Given the description of an element on the screen output the (x, y) to click on. 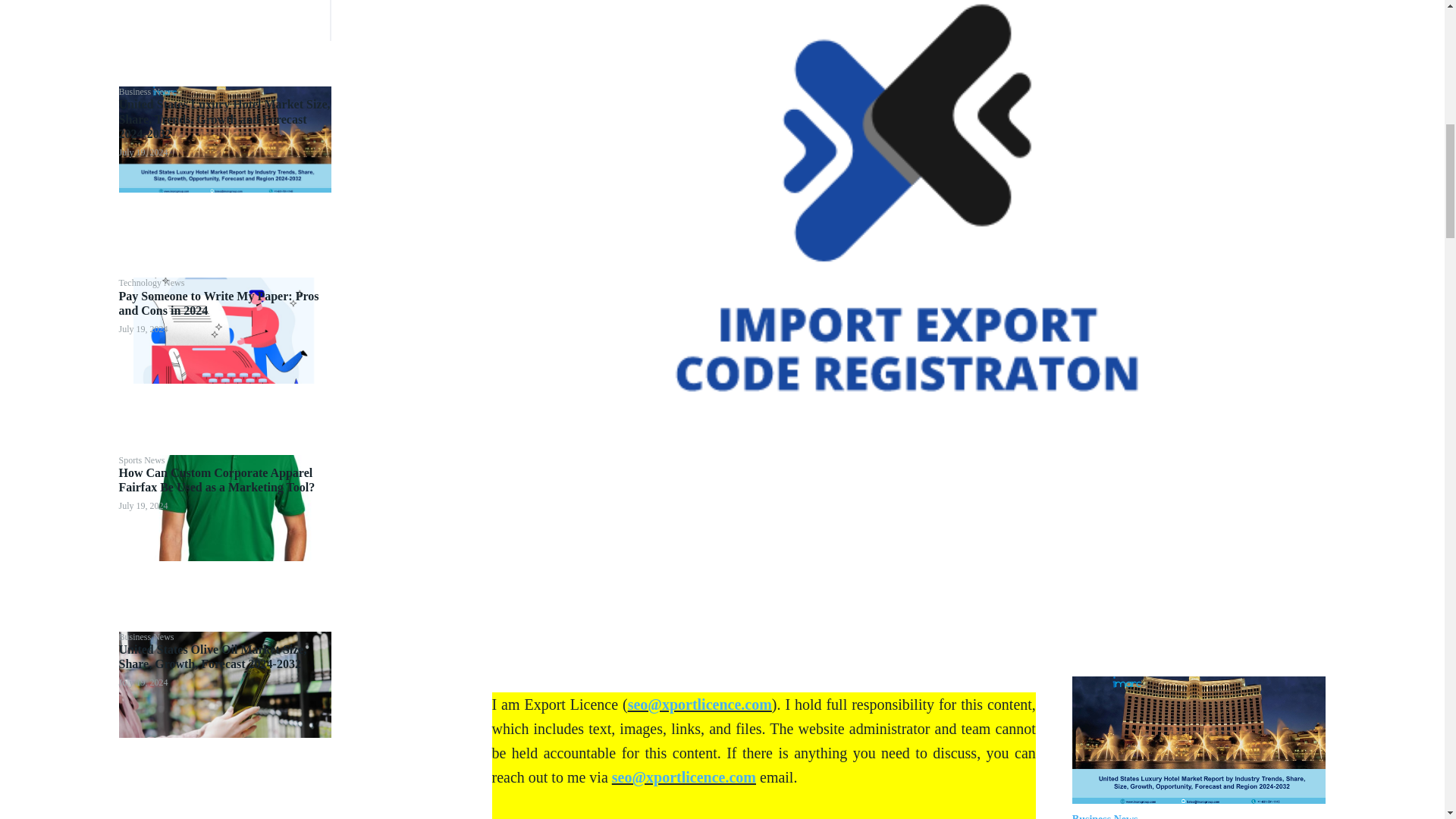
Pay Someone to Write My Paper: Pros and Cons in 2024 (223, 330)
Advertisement (222, 20)
Pay Someone to Write My Paper: Pros and Cons in 2024 (217, 302)
